Given the description of an element on the screen output the (x, y) to click on. 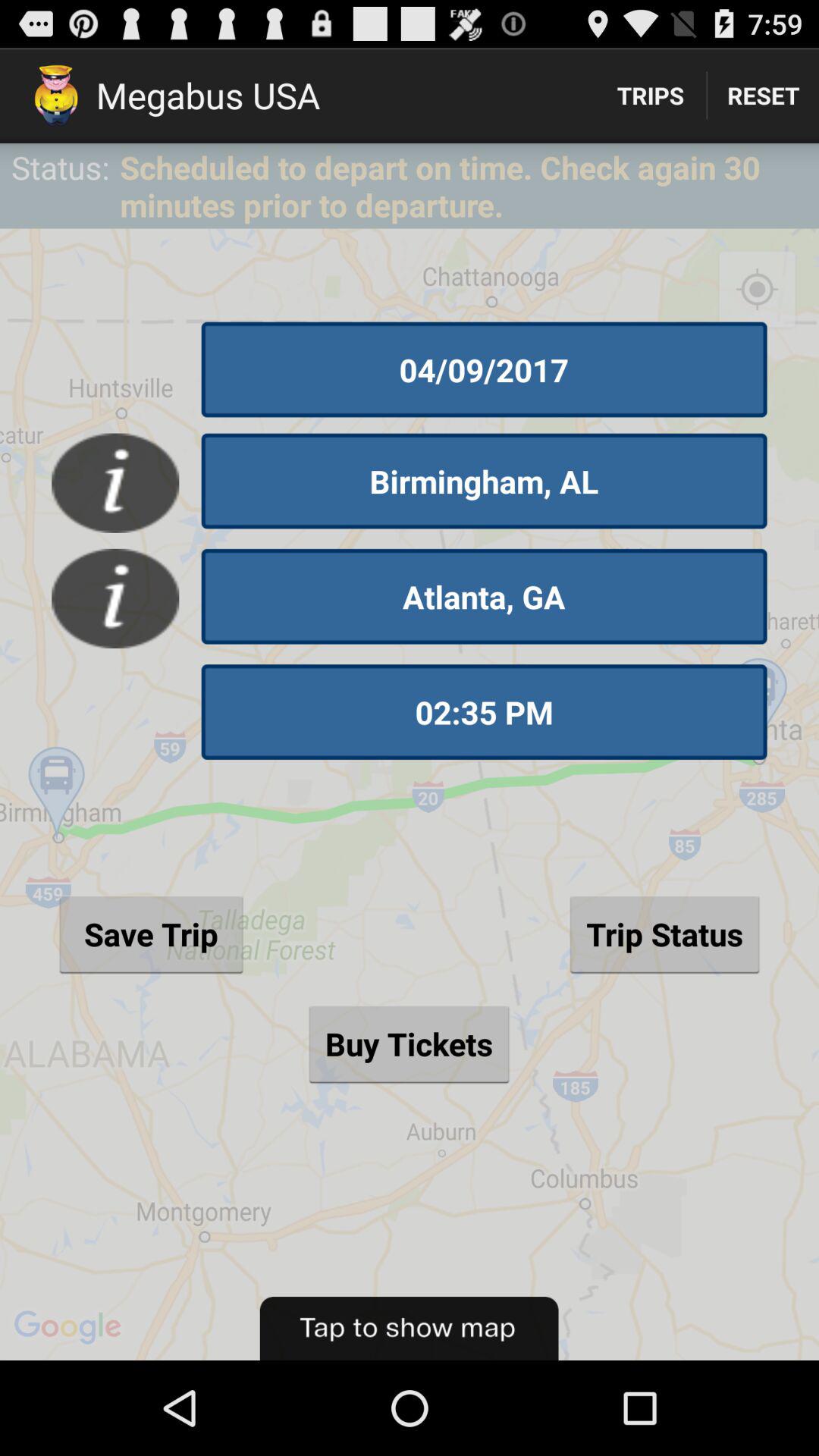
flip to the trip status (664, 934)
